Given the description of an element on the screen output the (x, y) to click on. 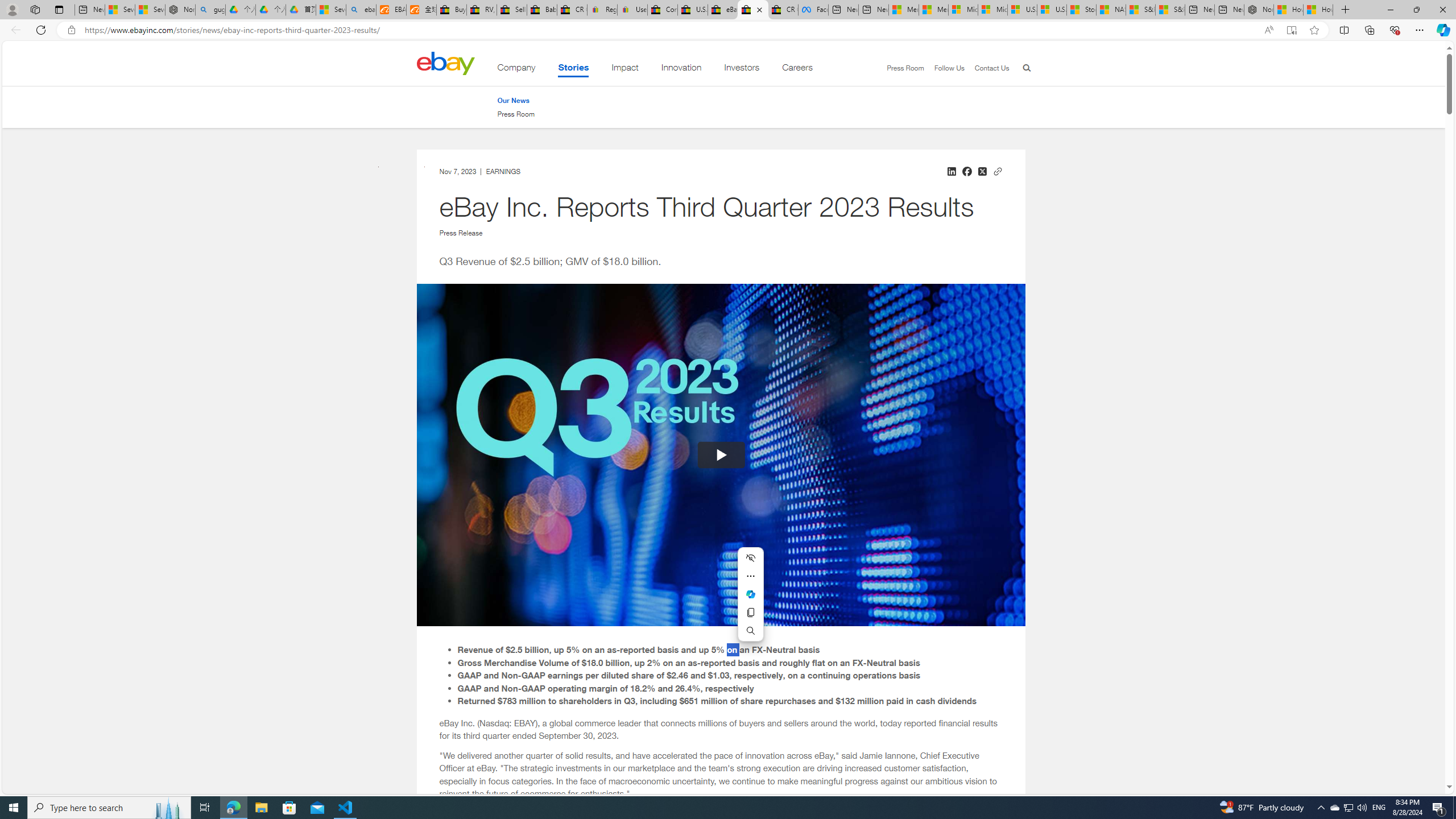
Company (515, 69)
eBay Inc. Reports Third Quarter 2023 Results (753, 9)
Share on X (Twitter) (981, 171)
Careers (796, 69)
Buy Auto Parts & Accessories | eBay (450, 9)
Mini menu on text selection (750, 594)
Impact (625, 69)
